Given the description of an element on the screen output the (x, y) to click on. 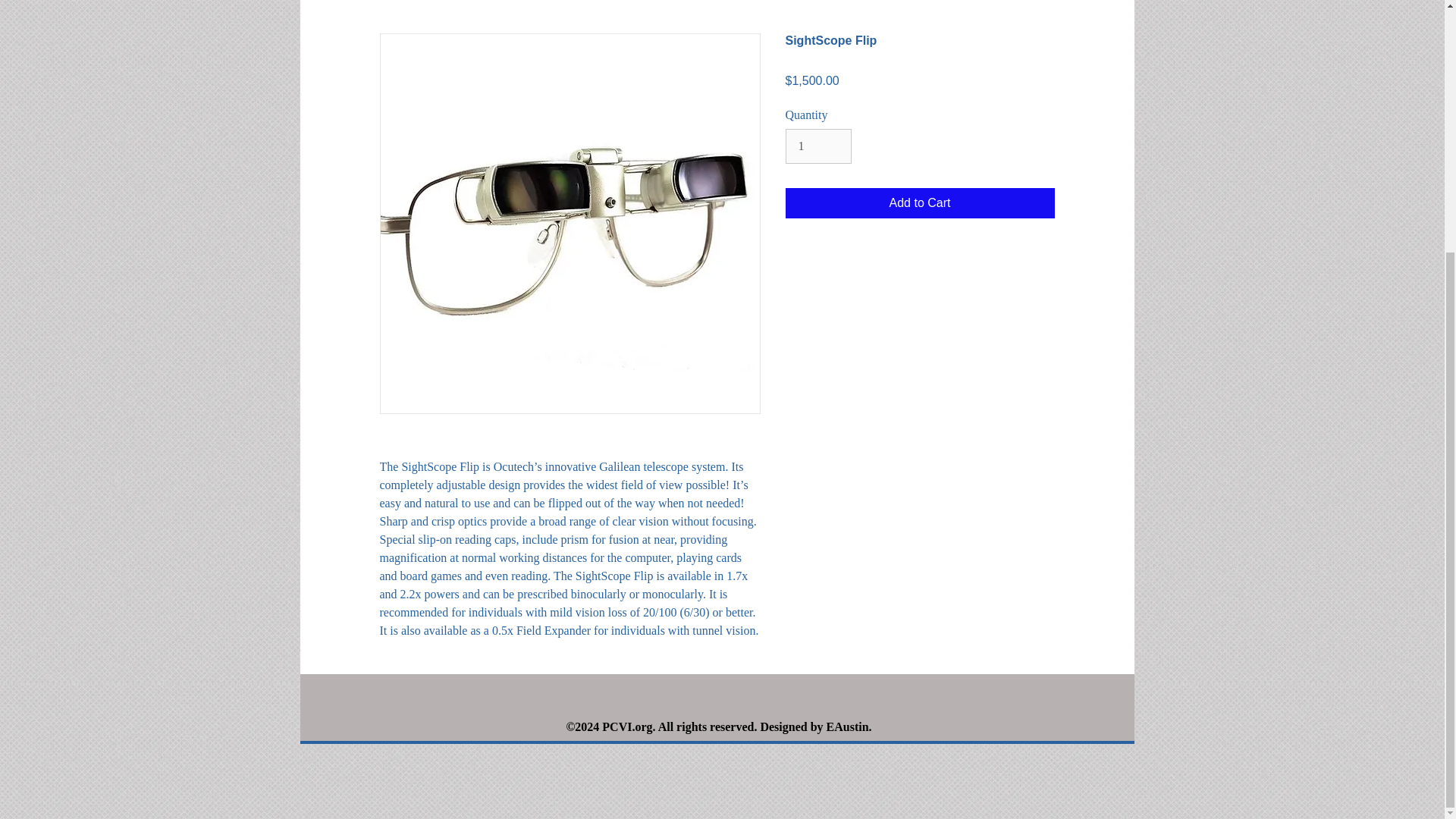
Add to Cart (920, 203)
1 (818, 145)
